Given the description of an element on the screen output the (x, y) to click on. 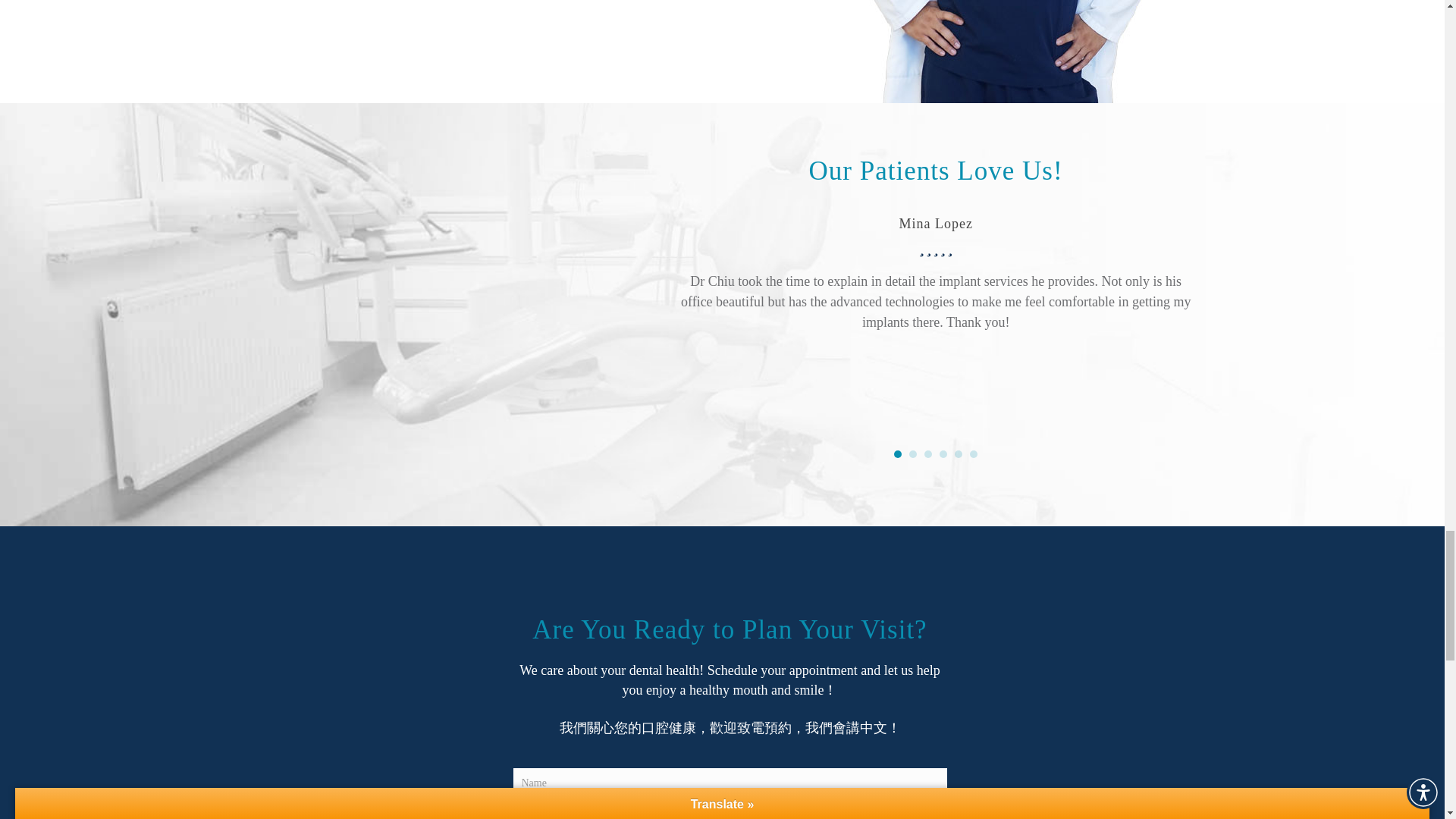
dr-james-chiu-photo (1000, 51)
